Given the description of an element on the screen output the (x, y) to click on. 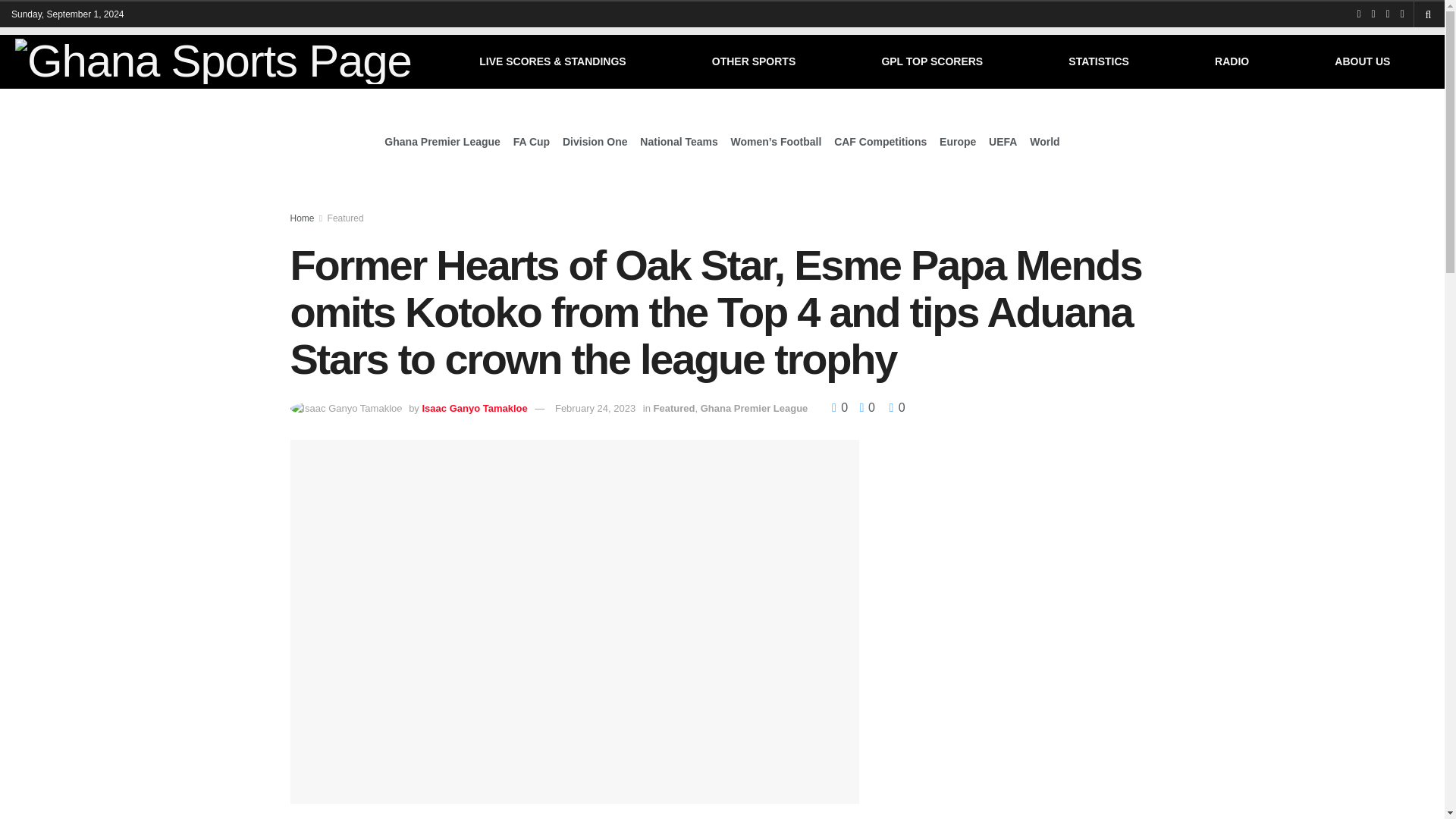
RADIO (1232, 61)
GPL TOP SCORERS (932, 61)
ABOUT US (1362, 61)
Division One (594, 141)
FA Cup (531, 141)
STATISTICS (1099, 61)
OTHER SPORTS (753, 61)
Ghana Premier League (442, 141)
